Given the description of an element on the screen output the (x, y) to click on. 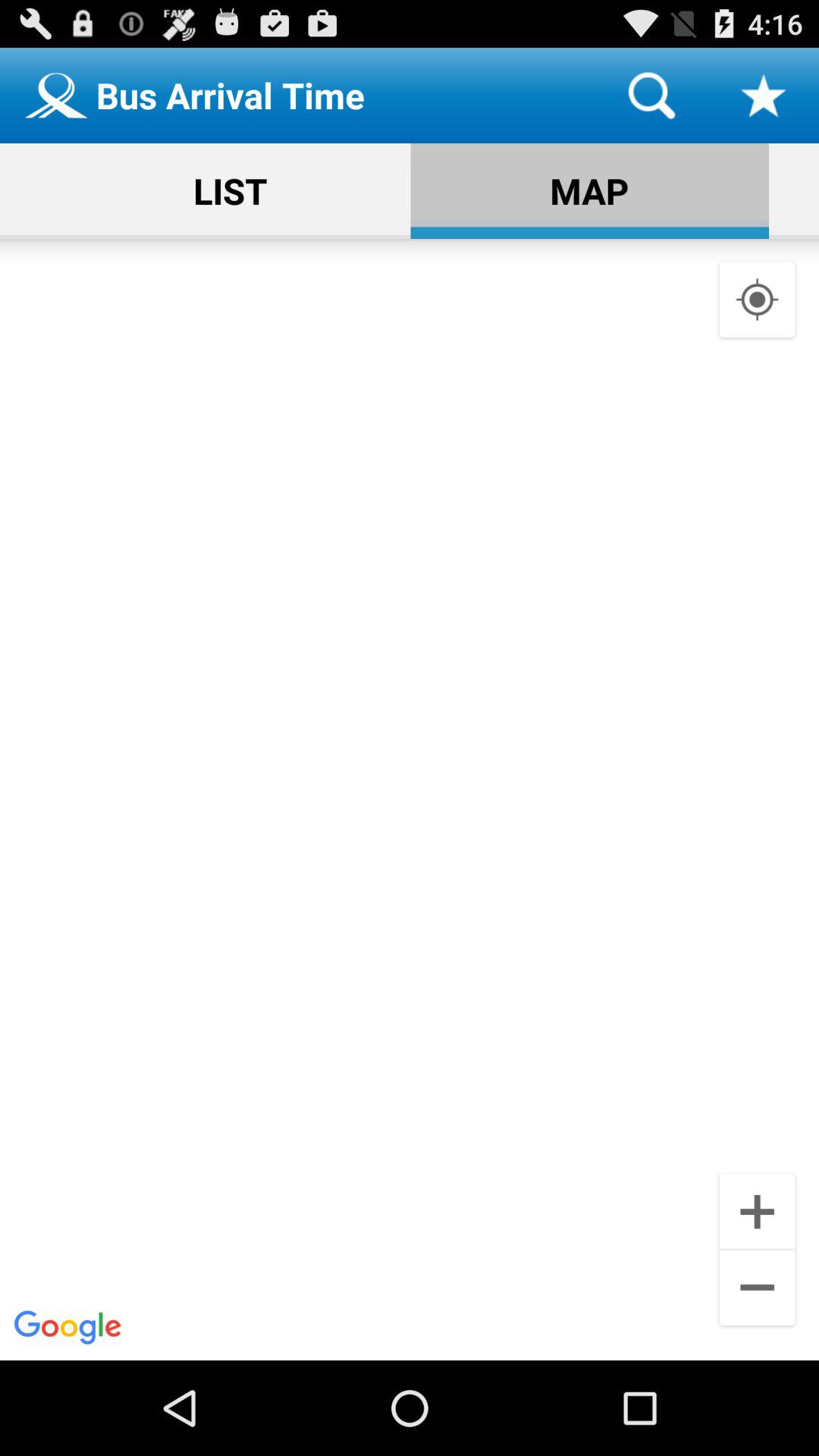
launch item below the list icon (409, 799)
